Given the description of an element on the screen output the (x, y) to click on. 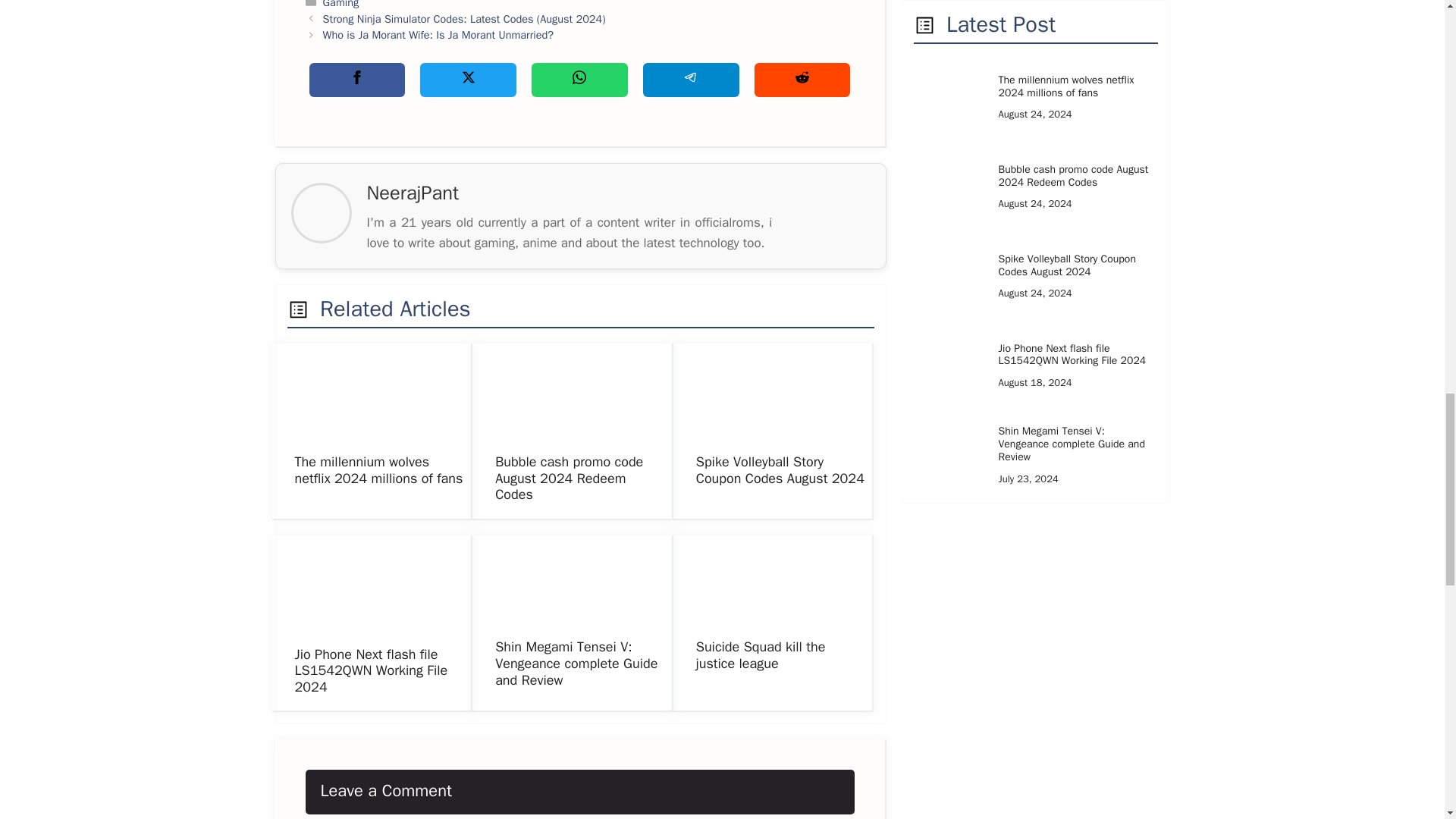
The millennium wolves netflix 2024 millions of fans (378, 469)
Gaming (341, 4)
Who is Ja Morant Wife: Is Ja Morant Unmarried? (438, 34)
Bubble cash promo code August 2024 Redeem Codes (569, 477)
